Given the description of an element on the screen output the (x, y) to click on. 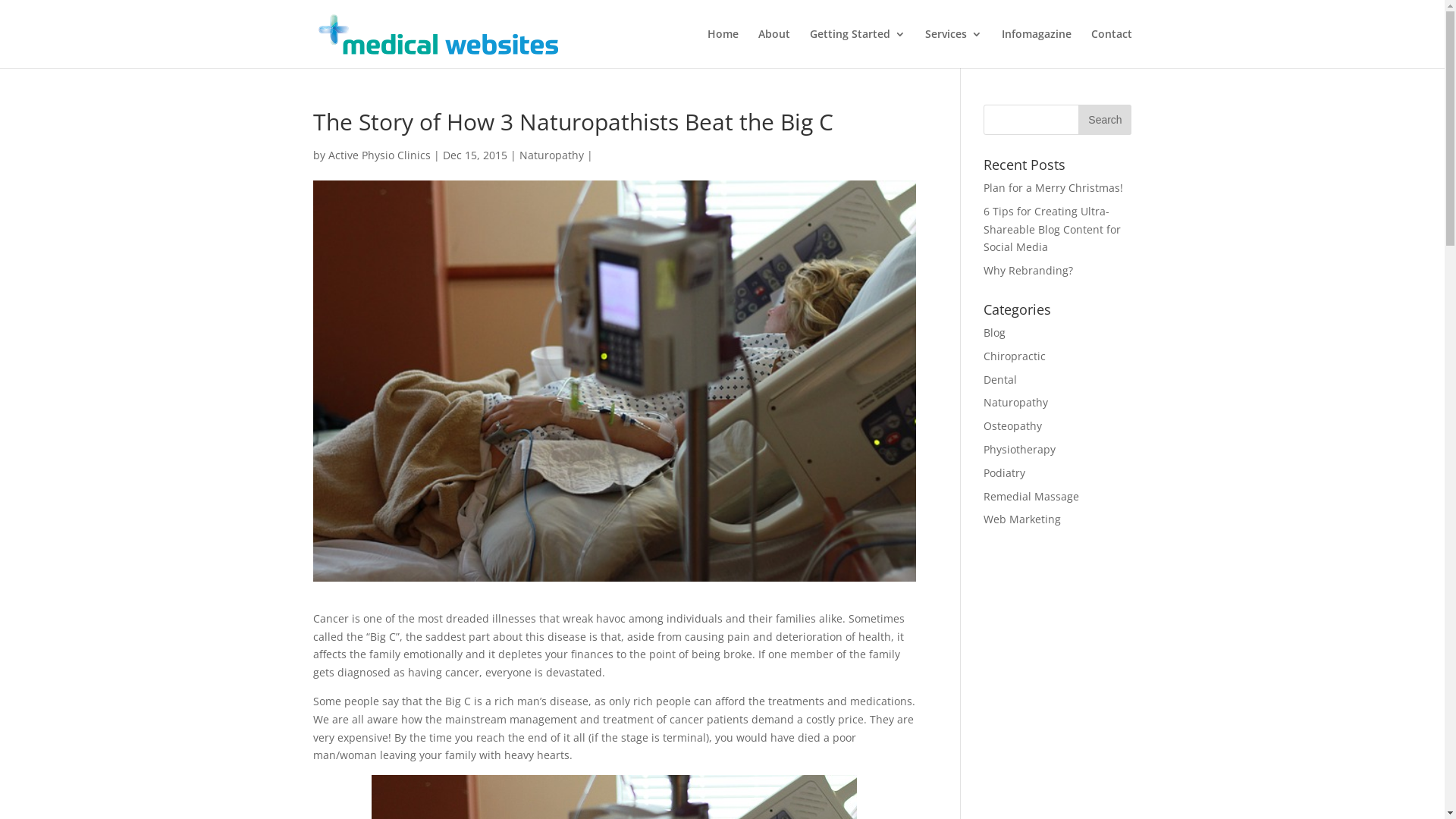
Contact Element type: text (1110, 48)
Blog Element type: text (994, 332)
Physiotherapy Element type: text (1019, 449)
Podiatry Element type: text (1004, 472)
Getting Started Element type: text (857, 48)
Services Element type: text (953, 48)
Naturopathy Element type: text (1015, 402)
Plan for a Merry Christmas! Element type: text (1053, 187)
Web Marketing Element type: text (1021, 518)
About Element type: text (774, 48)
Search Element type: text (1104, 119)
Osteopathy Element type: text (1012, 425)
Chiropractic Element type: text (1014, 355)
Active Physio Clinics Element type: text (378, 154)
Naturopathy Element type: text (550, 154)
Why Rebranding? Element type: text (1028, 270)
Home Element type: text (721, 48)
Infomagazine Element type: text (1035, 48)
Dental Element type: text (999, 379)
Remedial Massage Element type: text (1031, 496)
